Given the description of an element on the screen output the (x, y) to click on. 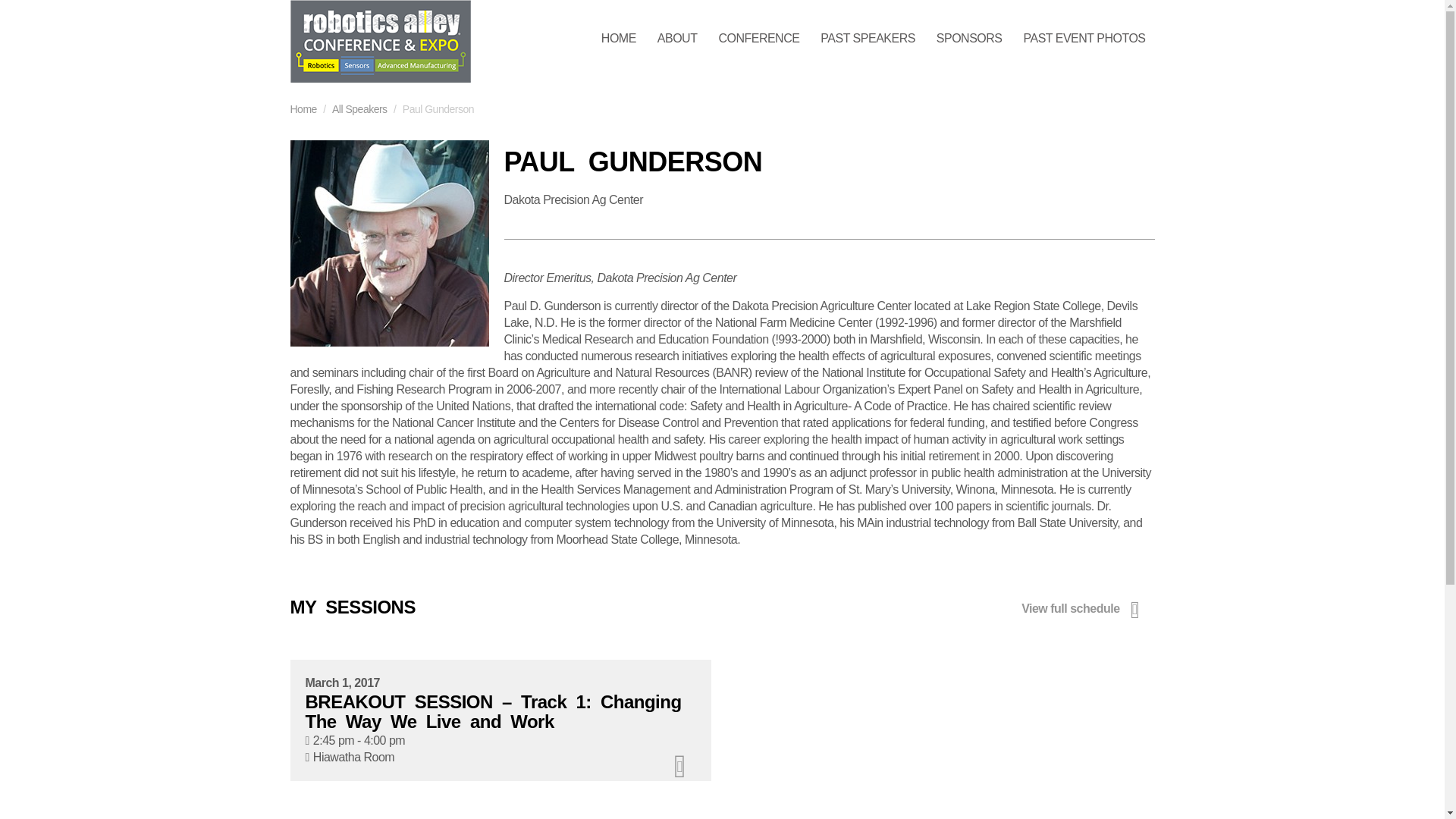
CONFERENCE (758, 39)
PAST SPEAKERS (867, 39)
SPONSORS (969, 39)
ABOUT (676, 39)
View full schedule (1084, 609)
HOME (618, 39)
All Speakers (359, 109)
Home (302, 109)
PAST EVENT PHOTOS (1083, 39)
Paul Gunderson (388, 243)
